Given the description of an element on the screen output the (x, y) to click on. 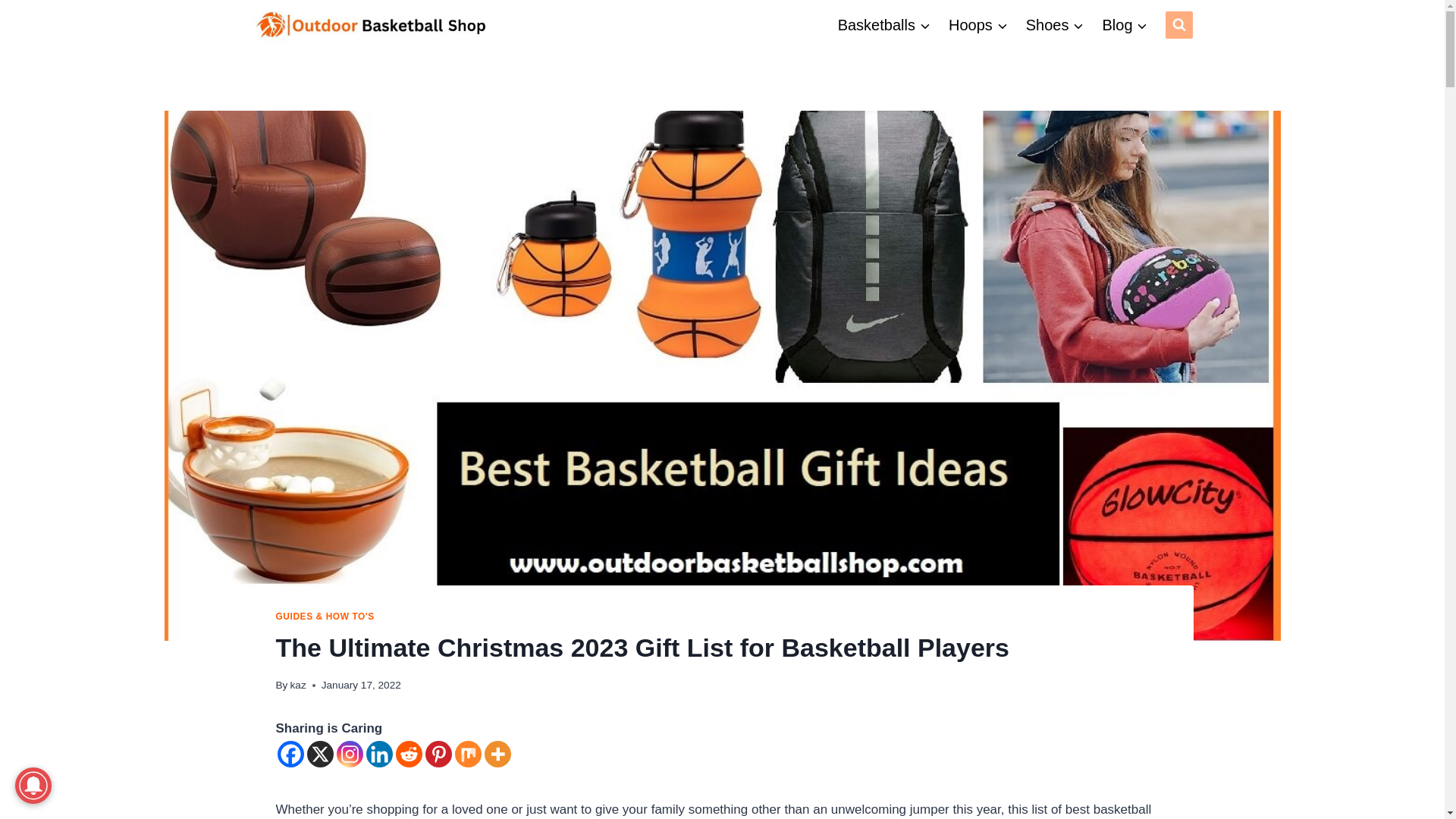
Reddit (409, 754)
Basketballs (883, 24)
Hoops (977, 24)
kaz (297, 685)
Pinterest (438, 754)
Instagram (349, 754)
Shoes (1054, 24)
Blog (1124, 24)
Facebook (291, 754)
More (497, 754)
X (319, 754)
Linkedin (378, 754)
Mix (467, 754)
